Given the description of an element on the screen output the (x, y) to click on. 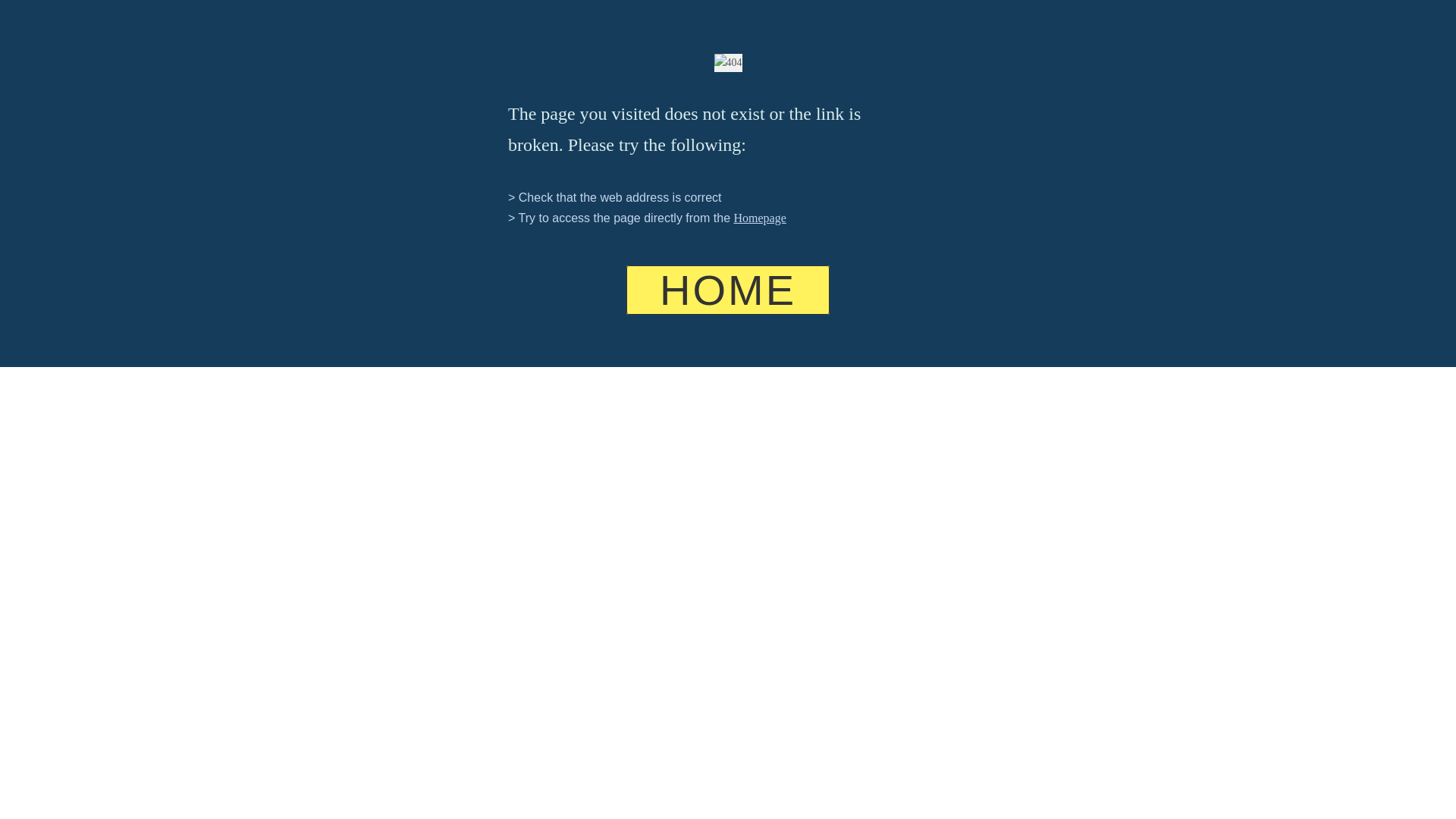
HOME (727, 289)
Homepage (759, 217)
